Given the description of an element on the screen output the (x, y) to click on. 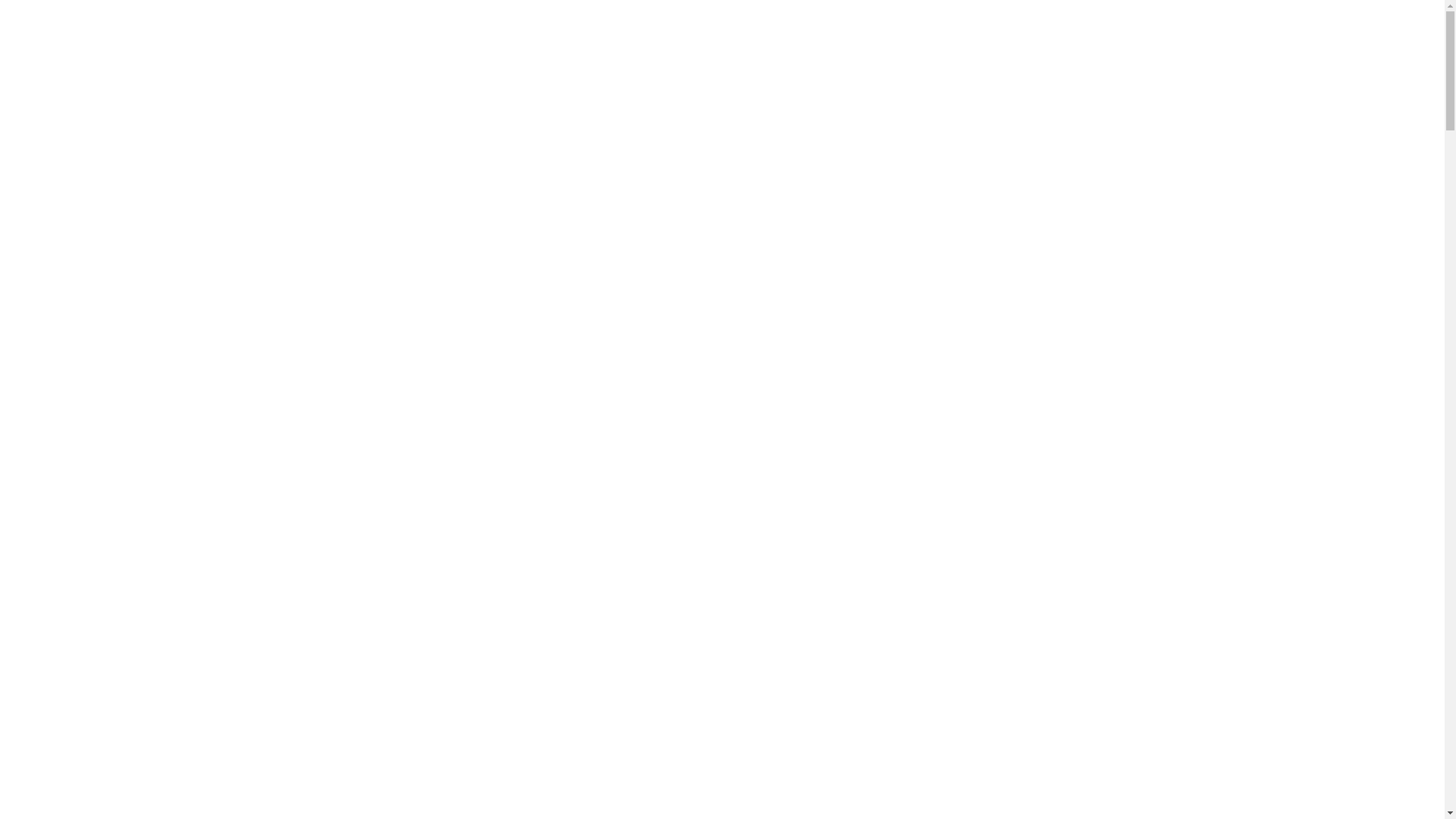
Perte de poids Element type: text (836, 364)
Ozempic Element type: text (96, 136)
Wegovy Element type: text (159, 136)
Saxenda Element type: text (31, 136)
Accueil Element type: text (15, 186)
Alias Bru Element type: text (722, 70)
Perte de poids Element type: text (70, 186)
Rybelsus Element type: text (222, 136)
Voir le prix  Element type: text (798, 318)
